Given the description of an element on the screen output the (x, y) to click on. 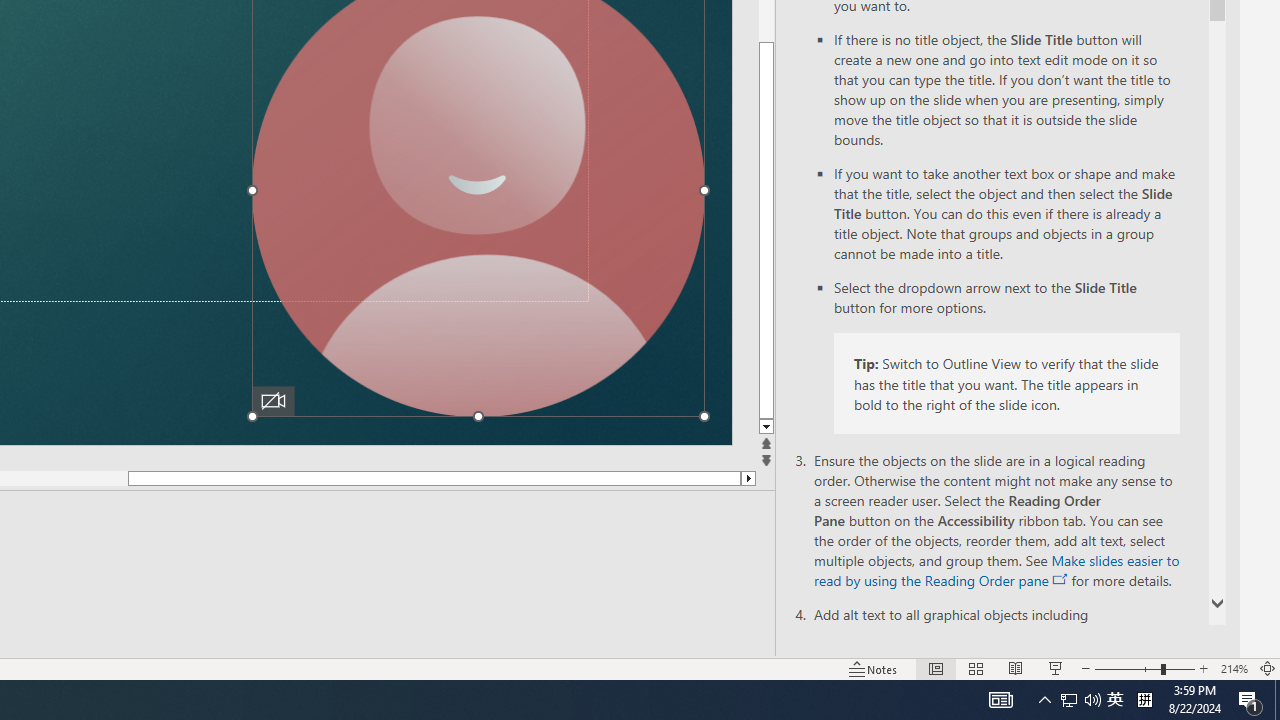
Slide Sorter (975, 668)
Page down (490, 479)
Slide Show (1055, 668)
Zoom to Fit  (1267, 668)
Notes  (874, 668)
Reading View (1015, 668)
Zoom 214% (1234, 668)
Zoom Out (1127, 668)
openinnewwindow (1060, 579)
Zoom In (1204, 668)
Normal (936, 668)
